Given the description of an element on the screen output the (x, y) to click on. 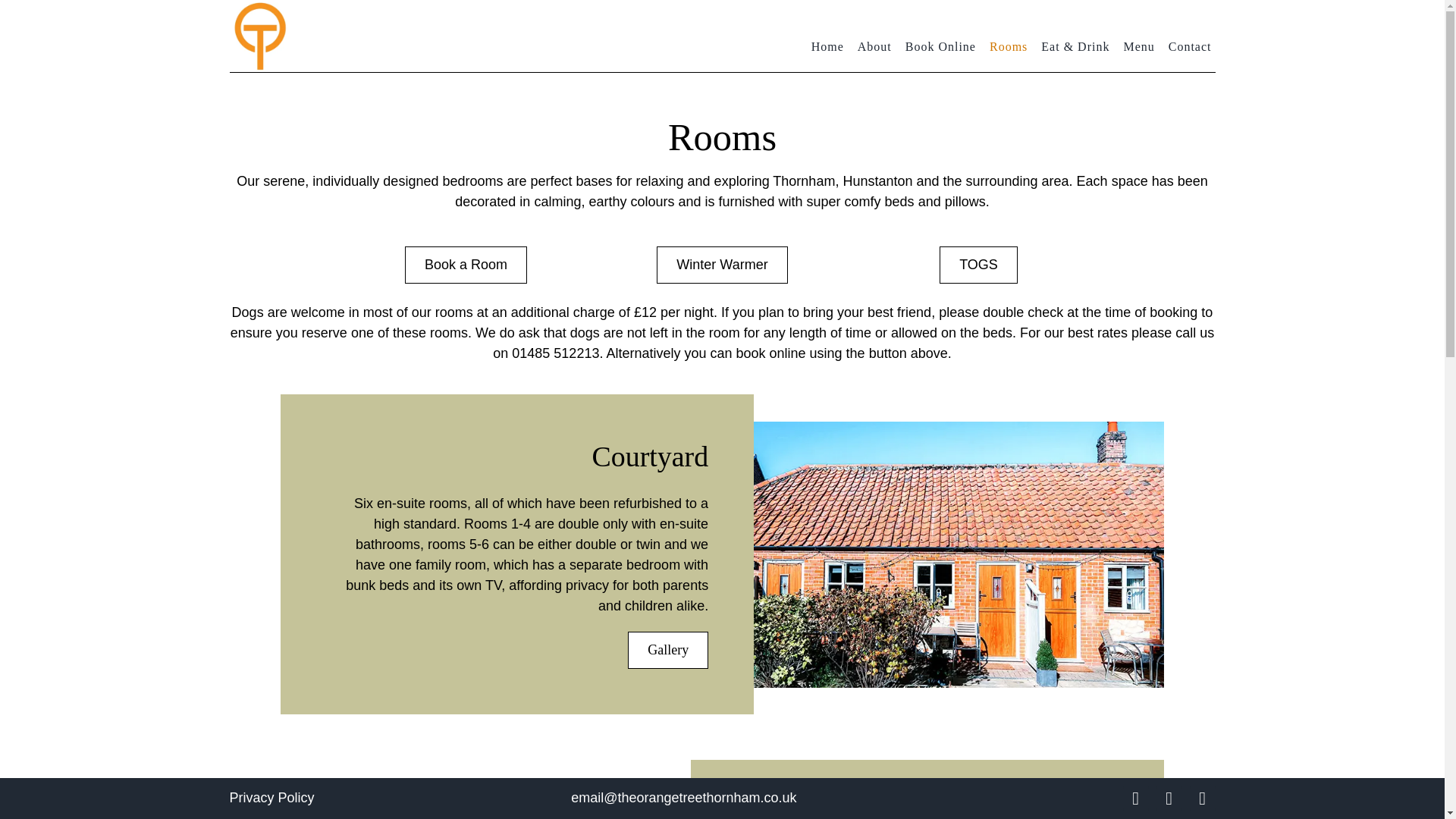
Winter Warmer (721, 264)
Home (827, 39)
Gallery (667, 650)
Rooms (1008, 39)
TOGS (978, 264)
Book Online (940, 39)
Menu (1138, 39)
Contact (1190, 39)
Book a Room (465, 264)
Privacy Policy (271, 797)
About (874, 39)
